Given the description of an element on the screen output the (x, y) to click on. 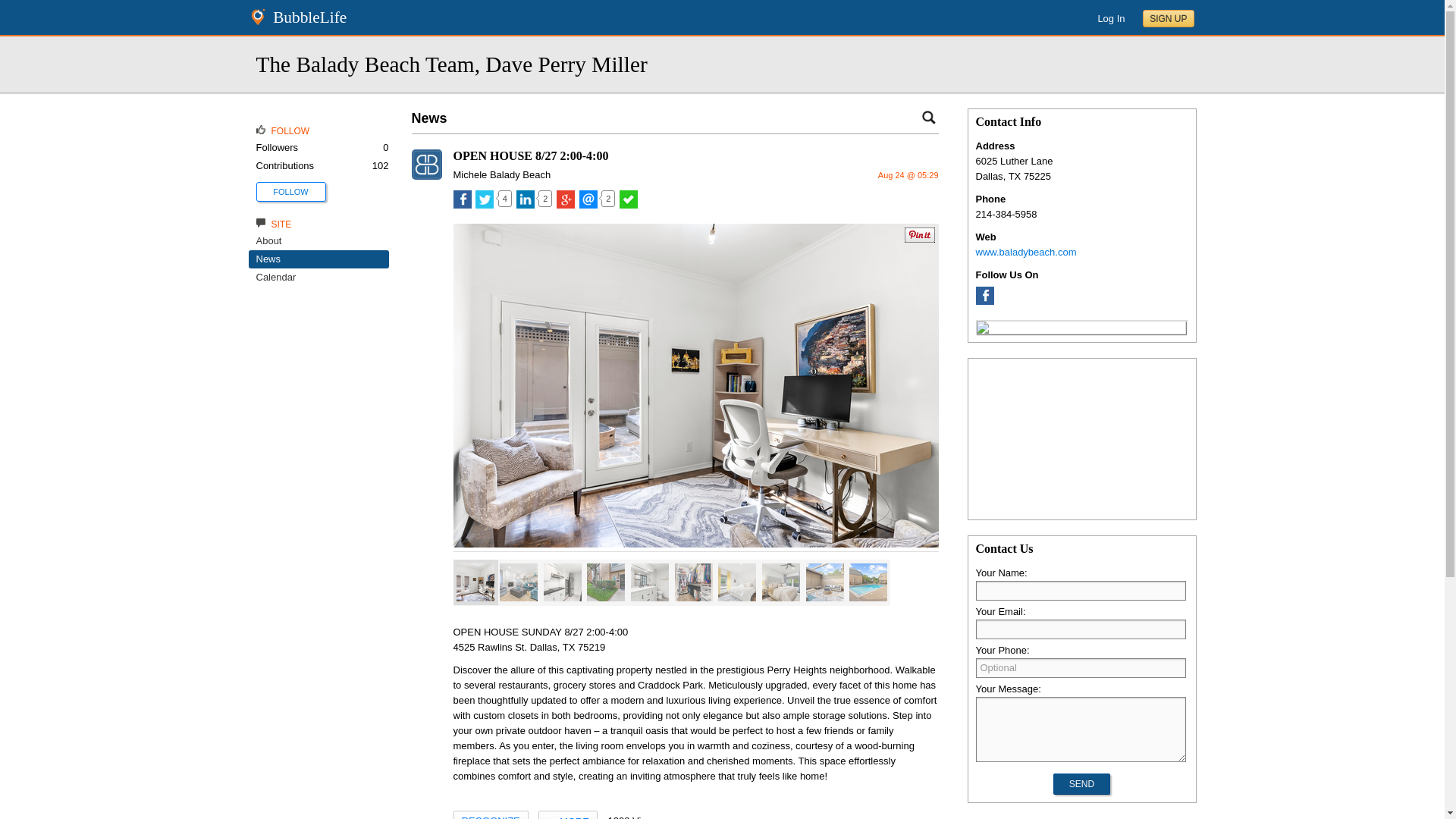
Send (1080, 783)
Sign up for free (1167, 18)
Michele Balady Beach (501, 174)
View profile (501, 174)
Already have a BubbleLife account? (1110, 18)
The Balady Beach Team, Dave Perry Miller (451, 63)
Search (928, 117)
View profile (425, 175)
BubbleLife (309, 17)
Log In (1110, 18)
SIGN UP (1167, 18)
BubbleLife (309, 17)
The Balady Beach Team, Dave Perry Miller (451, 63)
